Given the description of an element on the screen output the (x, y) to click on. 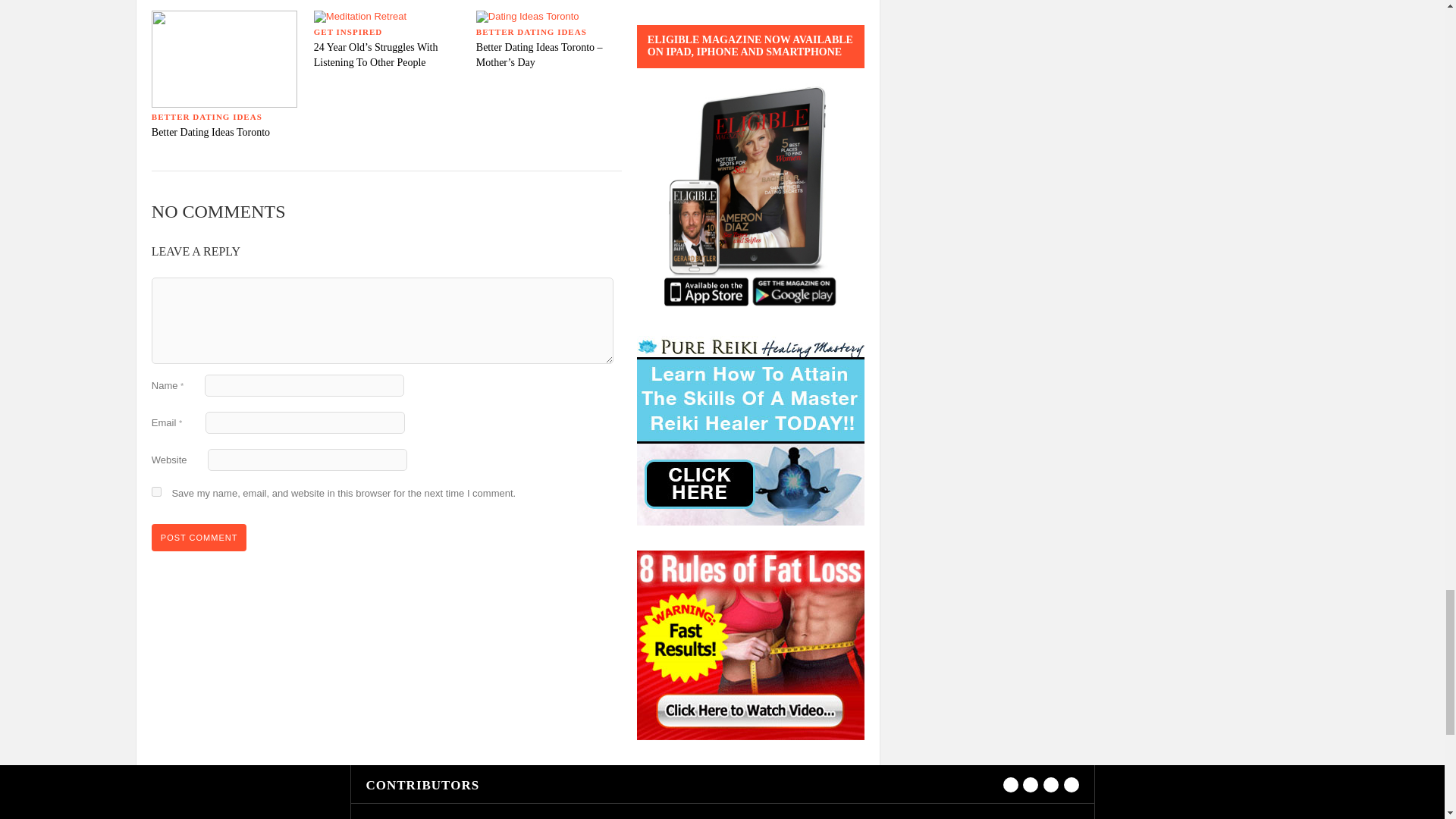
yes (156, 491)
Permanent Link: Better Dating Ideas Toronto (210, 132)
Post comment (199, 537)
